Given the description of an element on the screen output the (x, y) to click on. 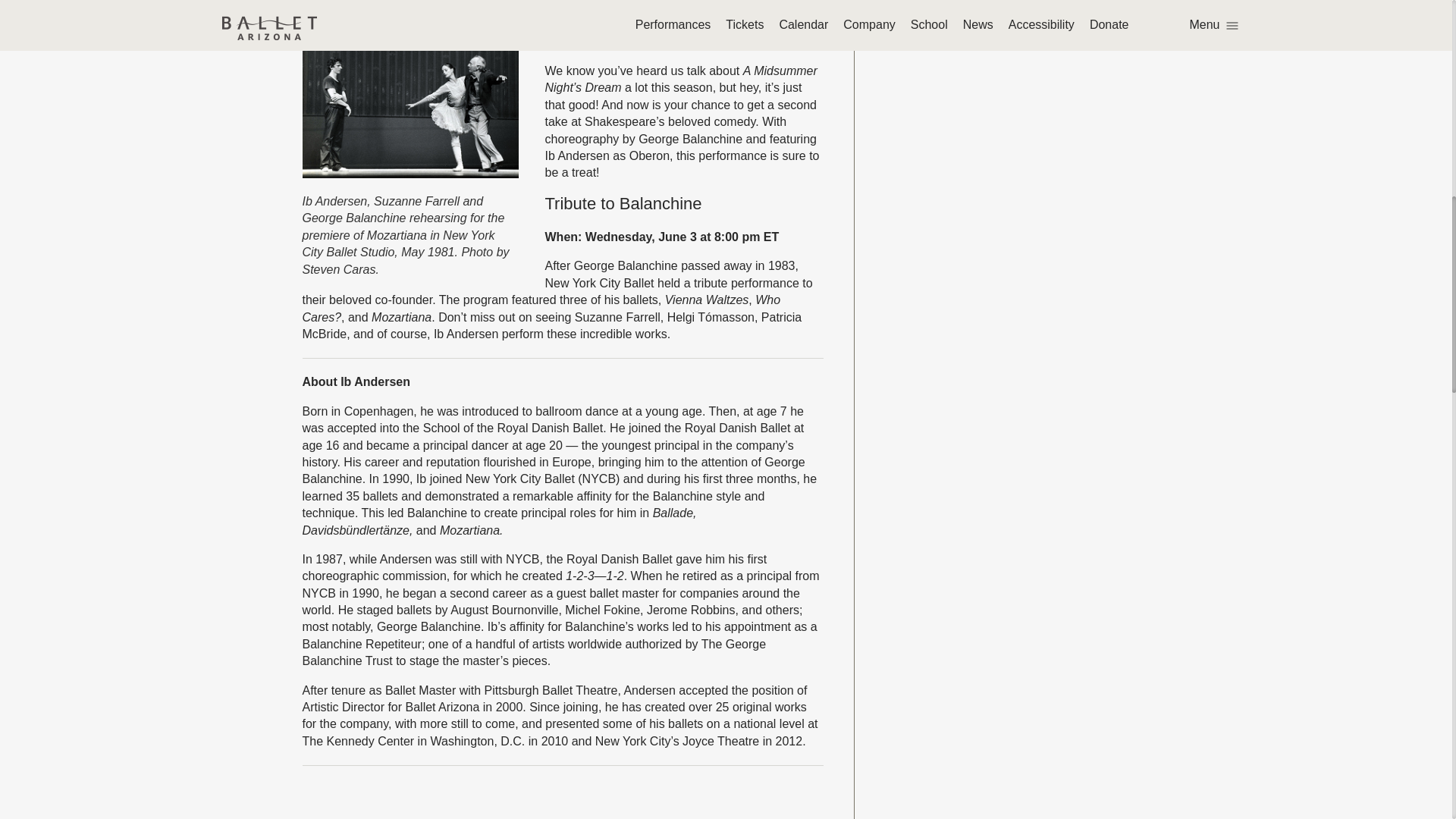
Get to Know Ballet Arizona Artistic Director Ib Andersen (561, 803)
